Given the description of an element on the screen output the (x, y) to click on. 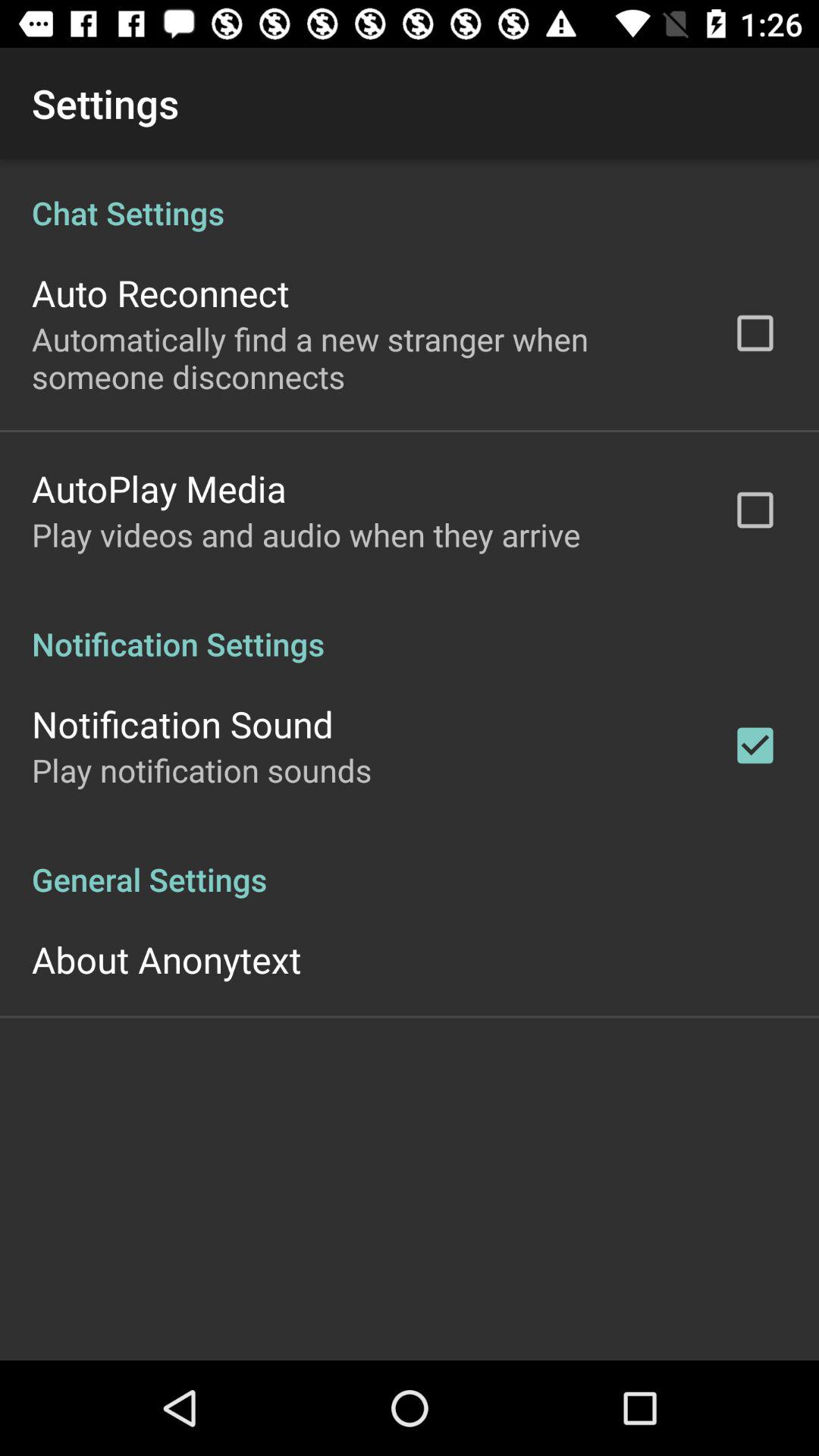
turn on the autoplay media icon (158, 488)
